Given the description of an element on the screen output the (x, y) to click on. 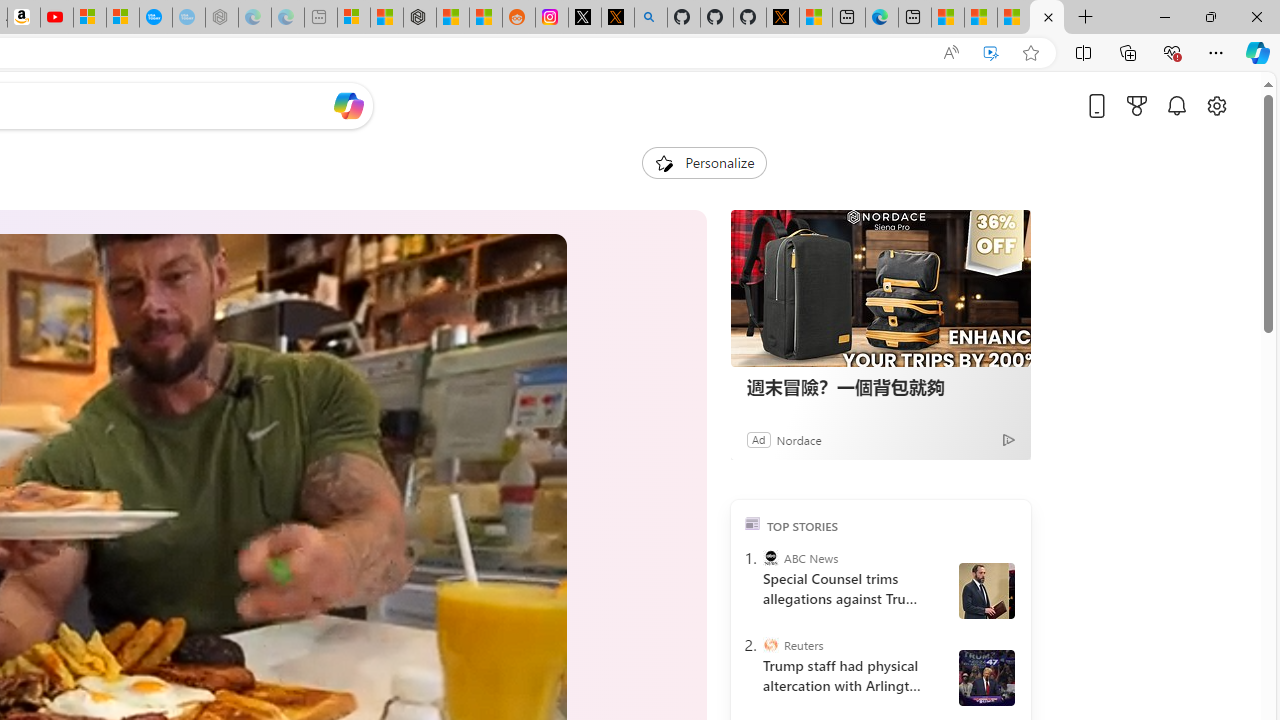
Ad Choice (1008, 439)
Nordace - Duffels (420, 17)
Open settings (1216, 105)
Day 1: Arriving in Yemen (surreal to be here) - YouTube (56, 17)
Nordace - Nordace has arrived Hong Kong - Sleeping (222, 17)
The most popular Google 'how to' searches - Sleeping (188, 17)
Open Copilot (347, 105)
Open Copilot (347, 105)
Opinion: Op-Ed and Commentary - USA TODAY (155, 17)
